Given the description of an element on the screen output the (x, y) to click on. 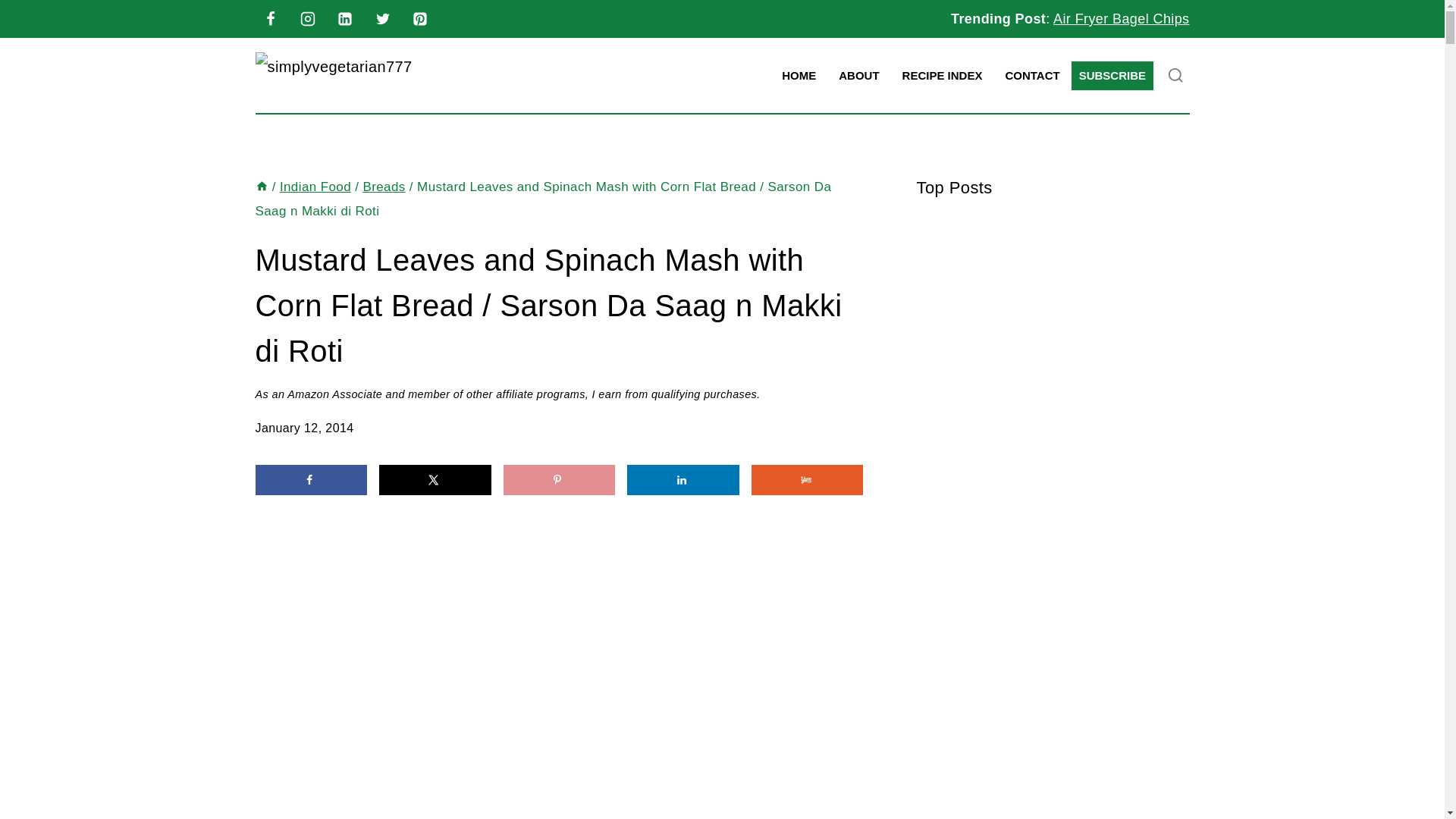
Home (260, 186)
Share on LinkedIn (683, 480)
Share on Facebook (310, 480)
Breads (383, 186)
SUBSCRIBE (1112, 75)
HOME (798, 76)
CONTACT (1031, 76)
RECIPE INDEX (942, 76)
Share on Yummly (807, 480)
Air Fryer Bagel Chips (1120, 18)
